Given the description of an element on the screen output the (x, y) to click on. 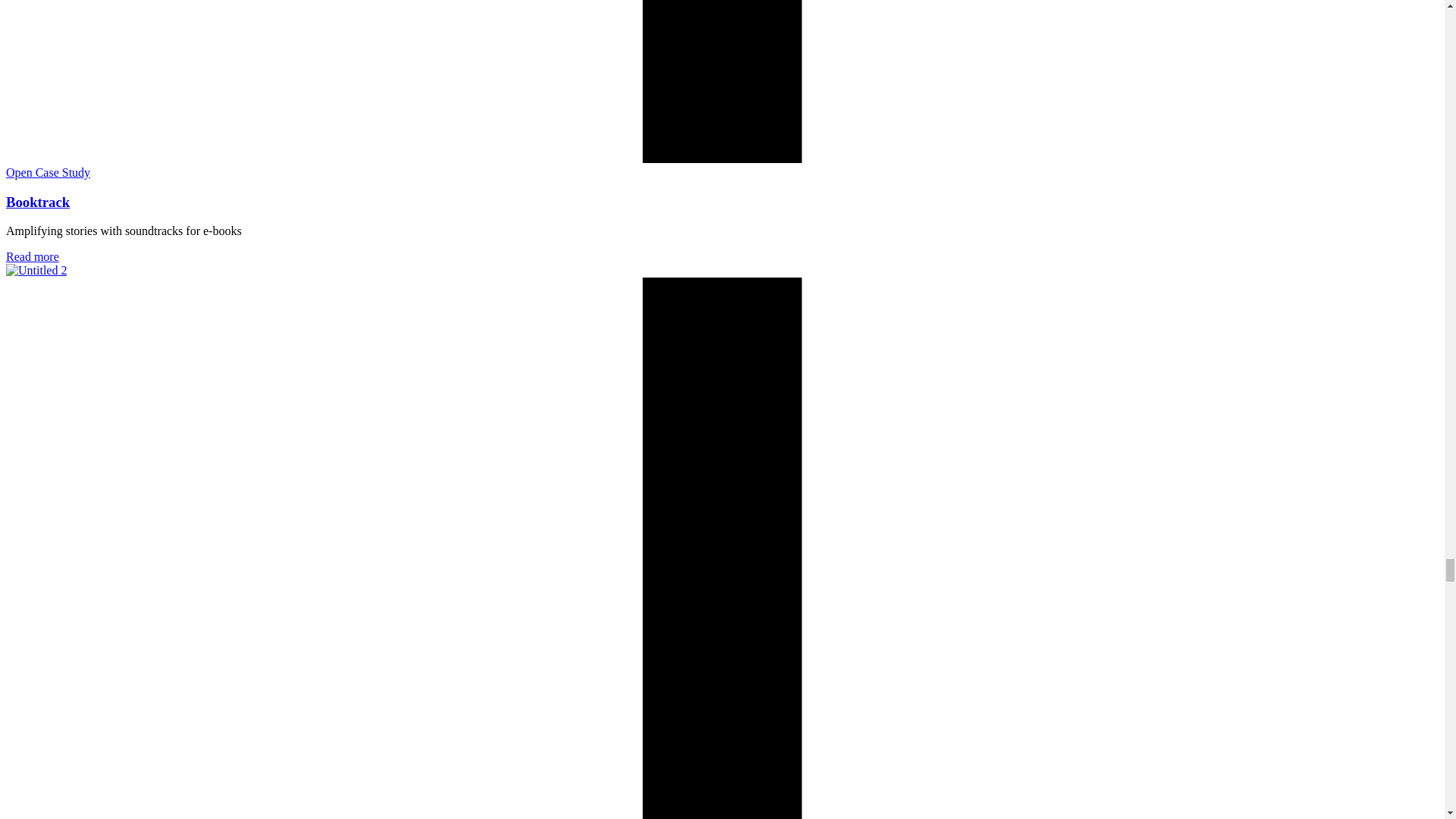
Read more (32, 256)
Read more about "Booktrack" (32, 256)
Booktrack (37, 201)
